Given the description of an element on the screen output the (x, y) to click on. 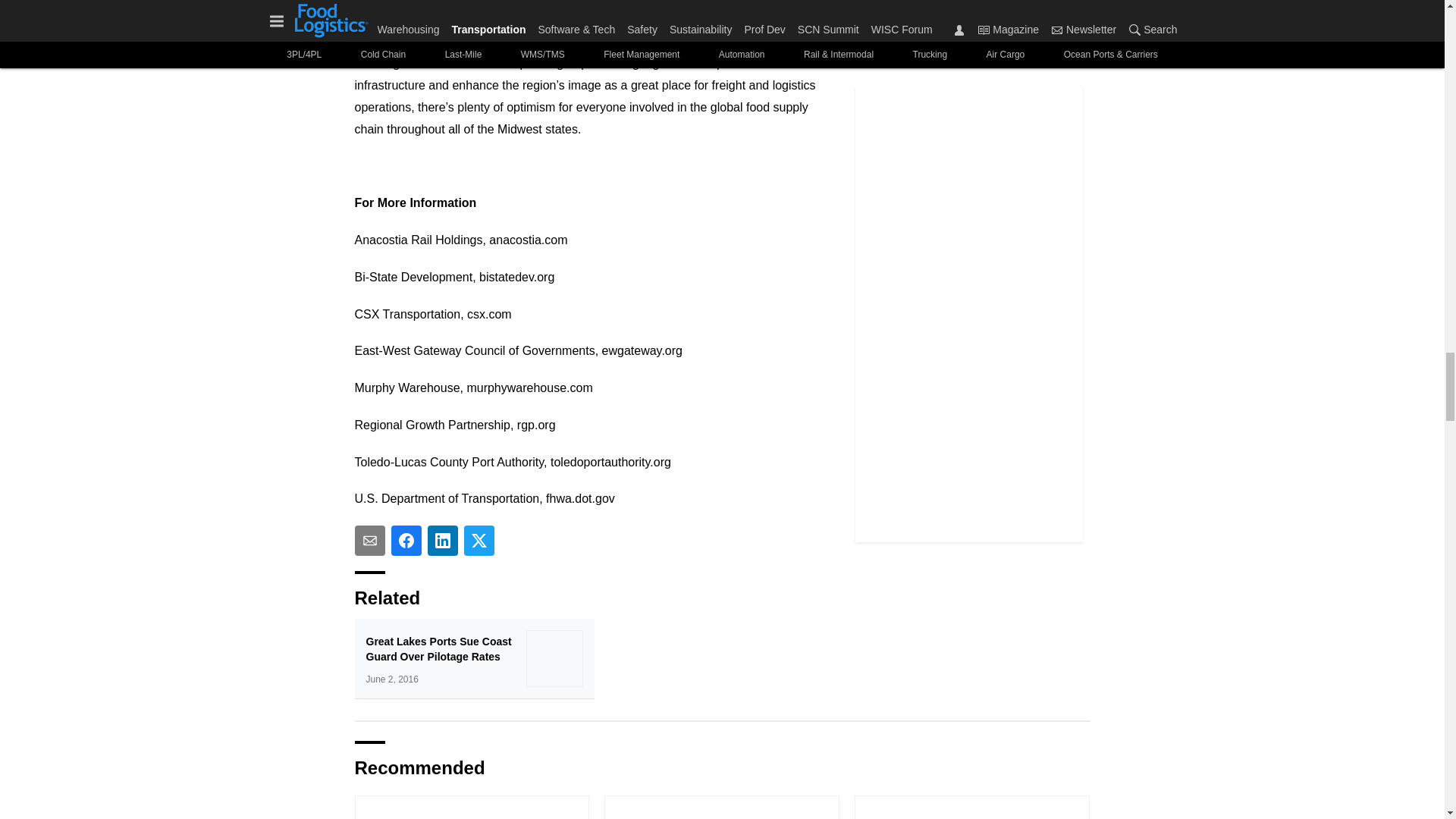
Share To email (370, 540)
Share To linkedin (443, 540)
Share To facebook (406, 540)
Share To twitter (479, 540)
